Given the description of an element on the screen output the (x, y) to click on. 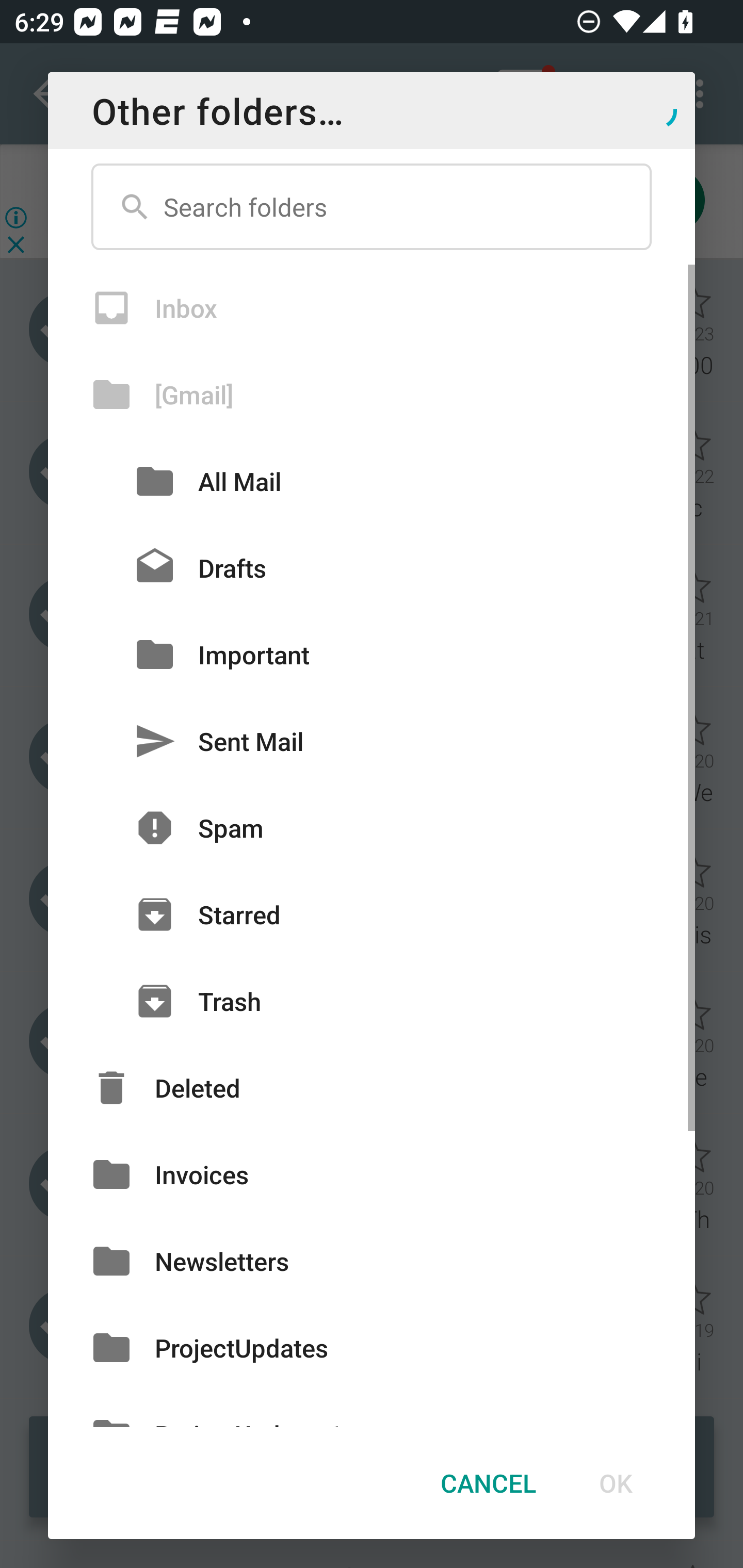
All Mail (371, 481)
Drafts (371, 568)
Important (371, 654)
Sent Mail (371, 740)
Spam (371, 827)
Starred (371, 914)
Trash (371, 1001)
Deleted (371, 1087)
Invoices (371, 1174)
Newsletters (371, 1261)
ProjectUpdates (371, 1347)
CANCEL (488, 1482)
OK (615, 1482)
